Given the description of an element on the screen output the (x, y) to click on. 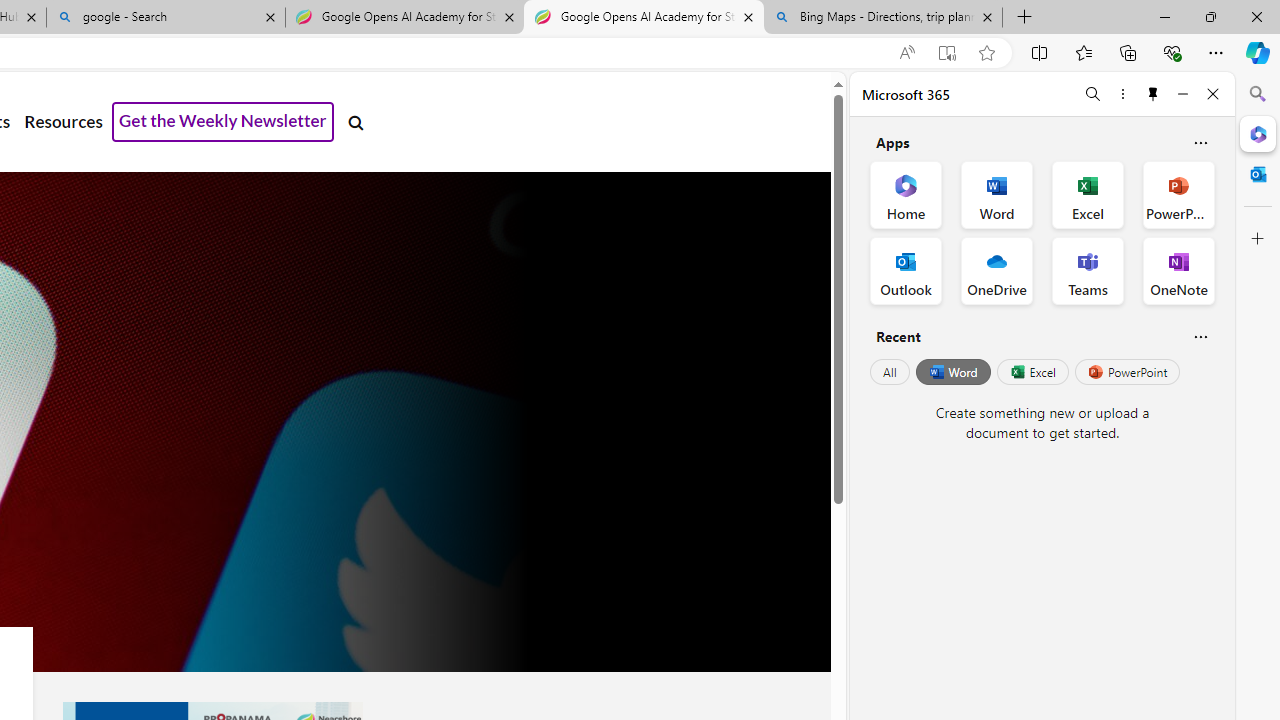
OneDrive Office App (996, 270)
Google Opens AI Academy for Startups - Nearshore Americas (643, 17)
New Tab (1025, 17)
Restore (1210, 16)
Is this helpful? (1200, 336)
Search (1258, 94)
Excel (1031, 372)
More options (1122, 93)
Close tab (987, 16)
Resources (63, 121)
OneNote Office App (1178, 270)
